Given the description of an element on the screen output the (x, y) to click on. 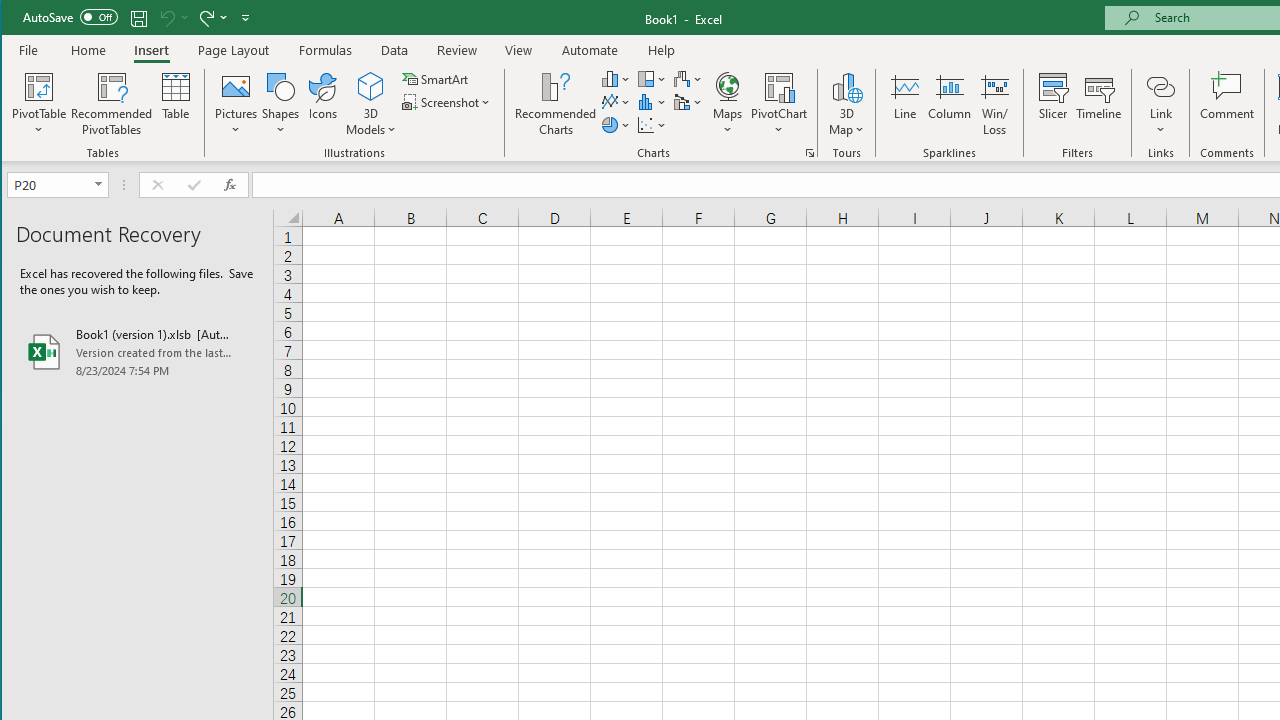
Quick Access Toolbar (137, 17)
3D Map (846, 104)
Column (949, 104)
AutoSave (70, 16)
View (518, 50)
Win/Loss (995, 104)
Customize Quick Access Toolbar (245, 17)
Recommended PivotTables (111, 104)
Redo (205, 17)
Help (661, 50)
Formulas (326, 50)
3D Map (846, 86)
SmartArt... (436, 78)
Maps (727, 104)
Timeline (1098, 104)
